Given the description of an element on the screen output the (x, y) to click on. 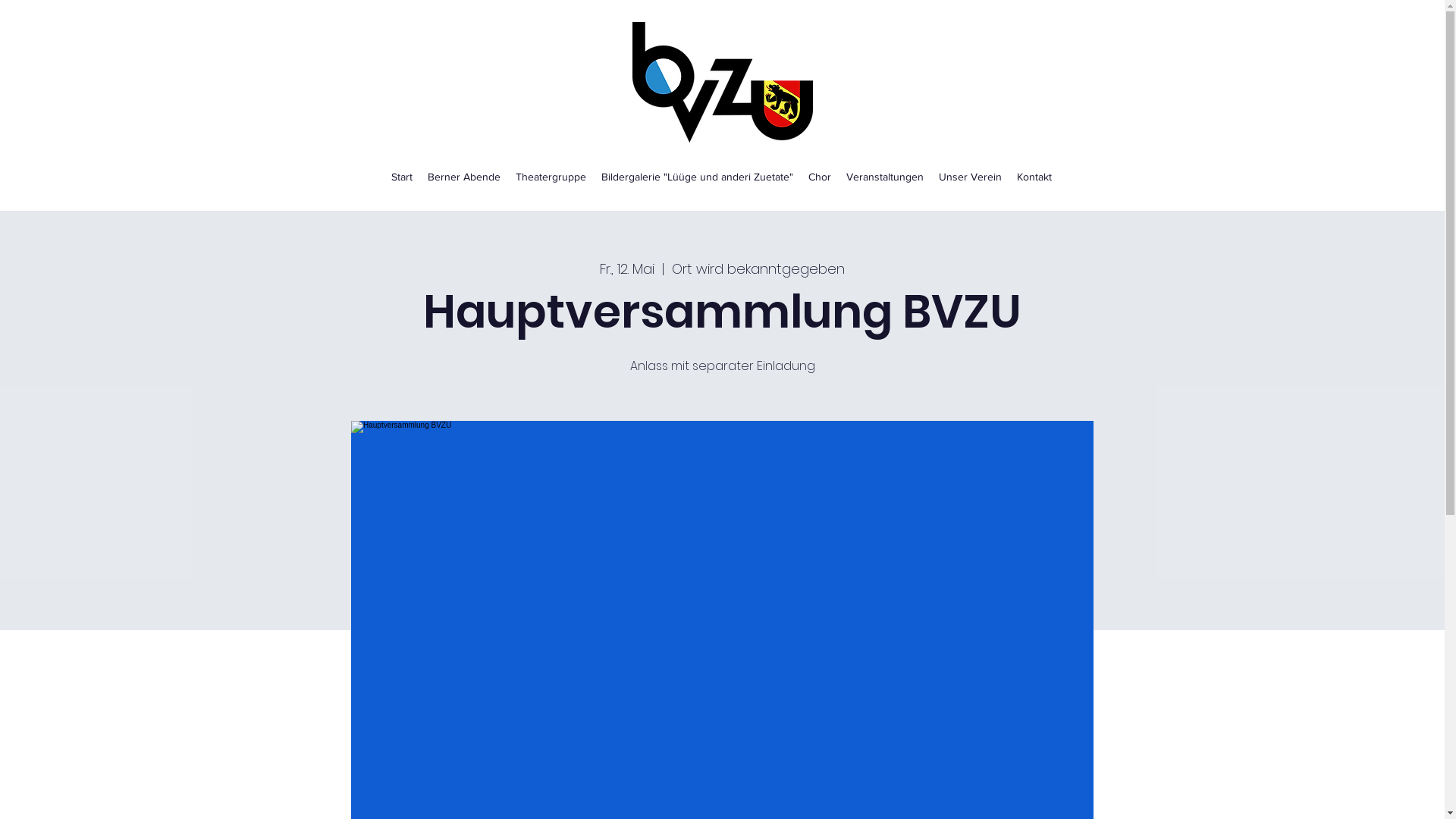
Chor Element type: text (819, 176)
Berner Abende Element type: text (464, 176)
Veranstaltungen Element type: text (884, 176)
Kontakt Element type: text (1034, 176)
Unser Verein Element type: text (970, 176)
Start Element type: text (401, 176)
Theatergruppe Element type: text (550, 176)
